Given the description of an element on the screen output the (x, y) to click on. 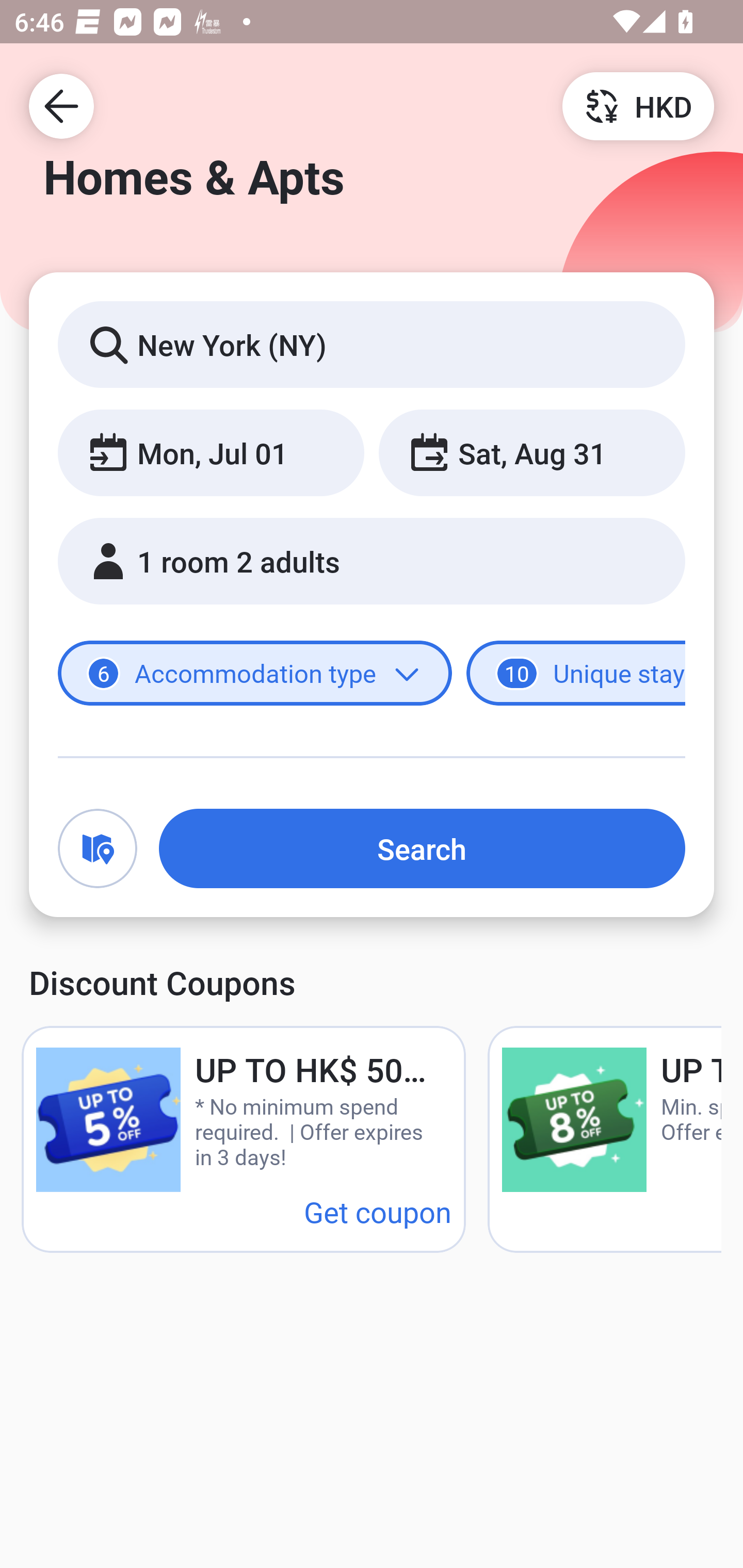
HKD (638, 105)
New York (NY) (371, 344)
Mon, Jul 01 (210, 452)
Sat, Aug 31 (531, 452)
1 room 2 adults (371, 561)
6 Accommodation type (254, 673)
10 Unique stays (575, 673)
Search (422, 848)
Get coupon (377, 1211)
